Given the description of an element on the screen output the (x, y) to click on. 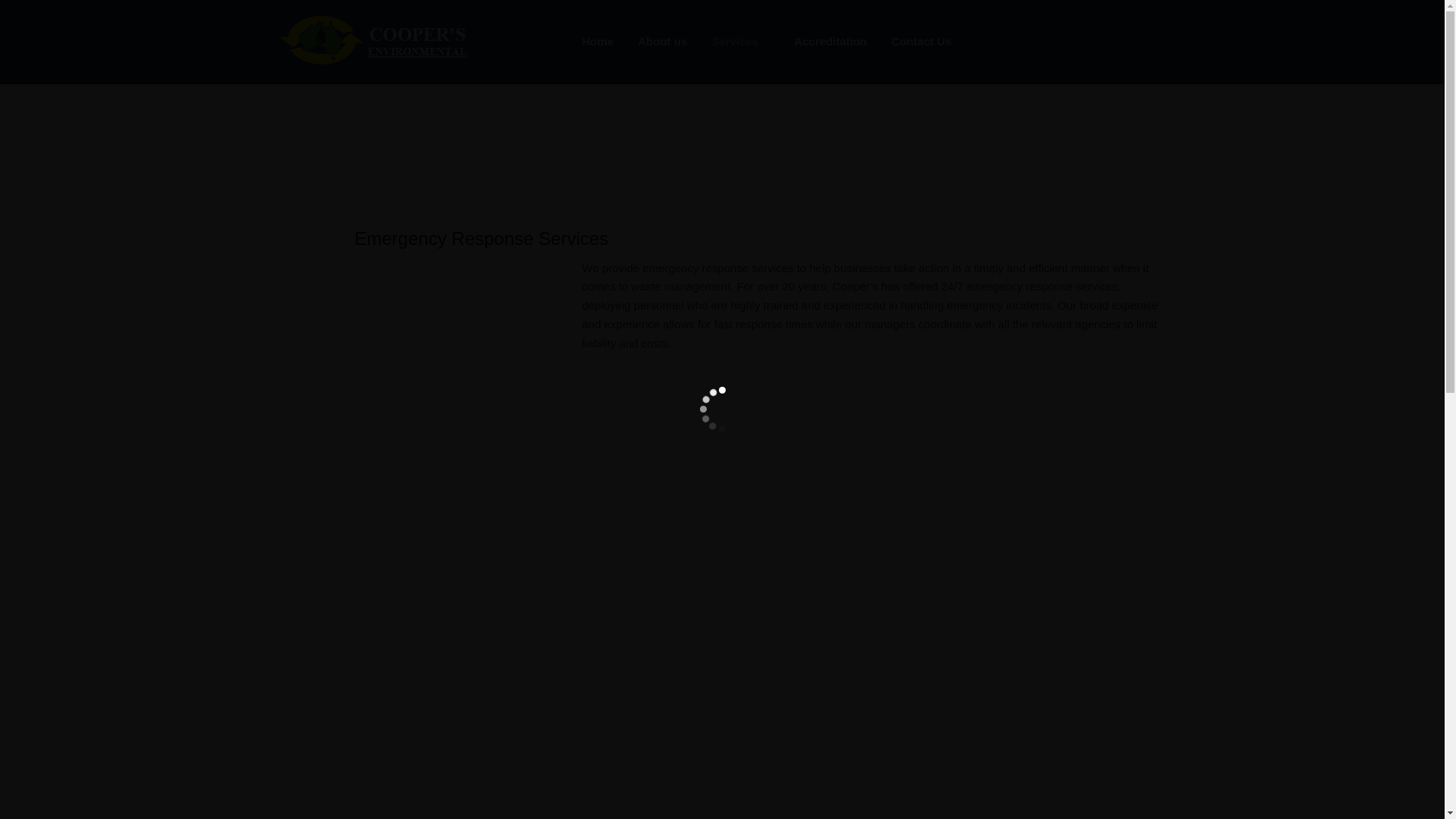
Services (740, 42)
Contact Us (920, 42)
Accreditation (830, 42)
